Given the description of an element on the screen output the (x, y) to click on. 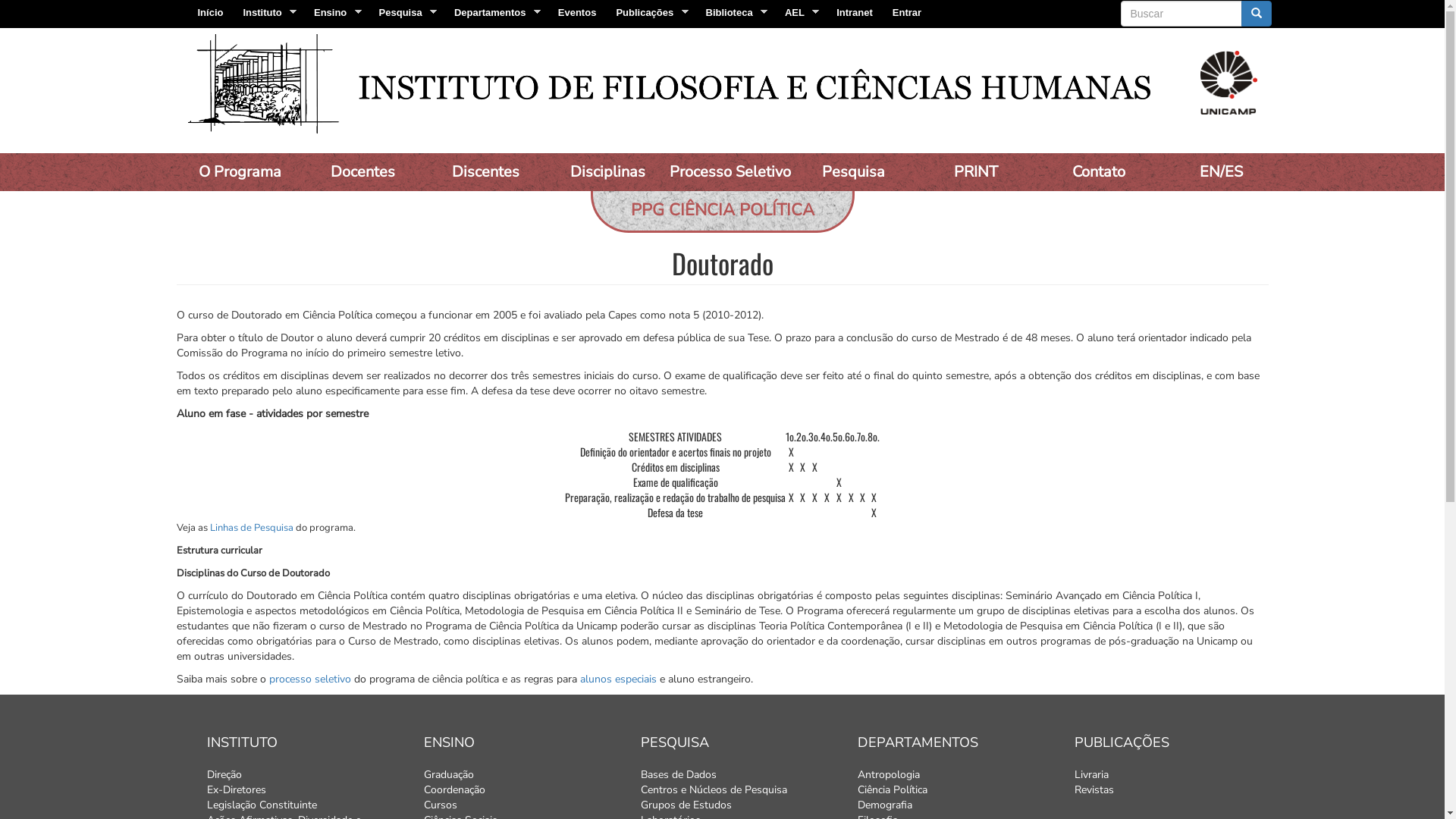
alunos especiais Element type: text (617, 678)
Bases de Dados Element type: text (737, 774)
Entrar Element type: text (906, 12)
Antropologia Element type: text (953, 774)
Processo Seletivo Element type: text (730, 171)
Disciplinas Element type: text (607, 171)
Intranet Element type: text (854, 12)
Revistas Element type: text (1170, 789)
Docentes Element type: text (362, 171)
Eventos Element type: text (577, 12)
INSTITUTO Element type: text (303, 742)
processo seletivo Element type: text (309, 678)
Buscar Element type: text (1121, 27)
PRINT Element type: text (975, 171)
Demografia Element type: text (953, 804)
PESQUISA Element type: text (737, 742)
Livraria Element type: text (1170, 774)
Grupos de Estudos Element type: text (737, 804)
O Programa Element type: text (239, 171)
Ex-Diretores Element type: text (303, 789)
Contato Element type: text (1098, 171)
Linhas de Pesquisa Element type: text (250, 527)
